Given the description of an element on the screen output the (x, y) to click on. 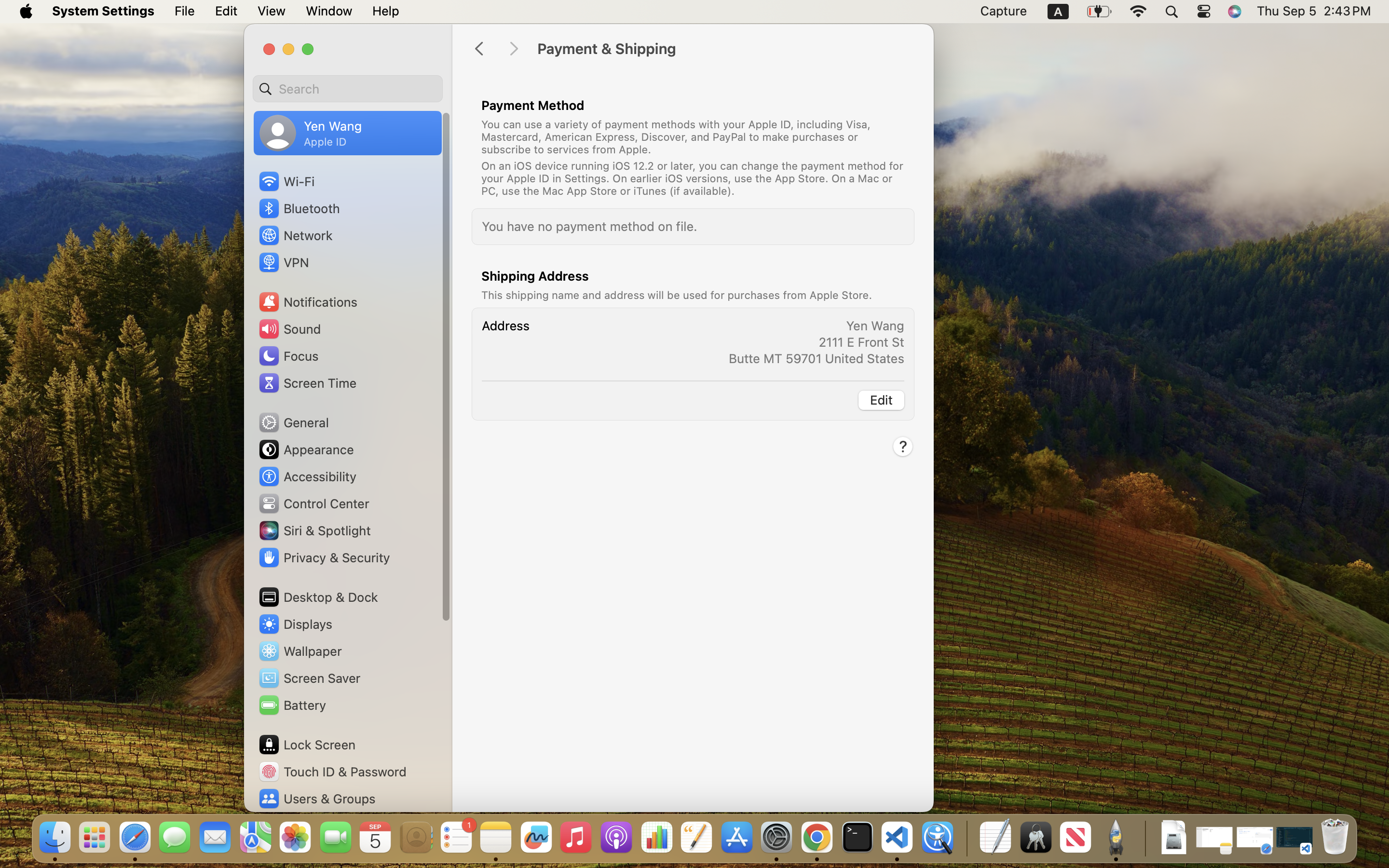
General Element type: AXStaticText (292, 422)
Wallpaper Element type: AXStaticText (299, 650)
Control Center Element type: AXStaticText (313, 503)
Screen Saver Element type: AXStaticText (308, 677)
Notifications Element type: AXStaticText (307, 301)
